Given the description of an element on the screen output the (x, y) to click on. 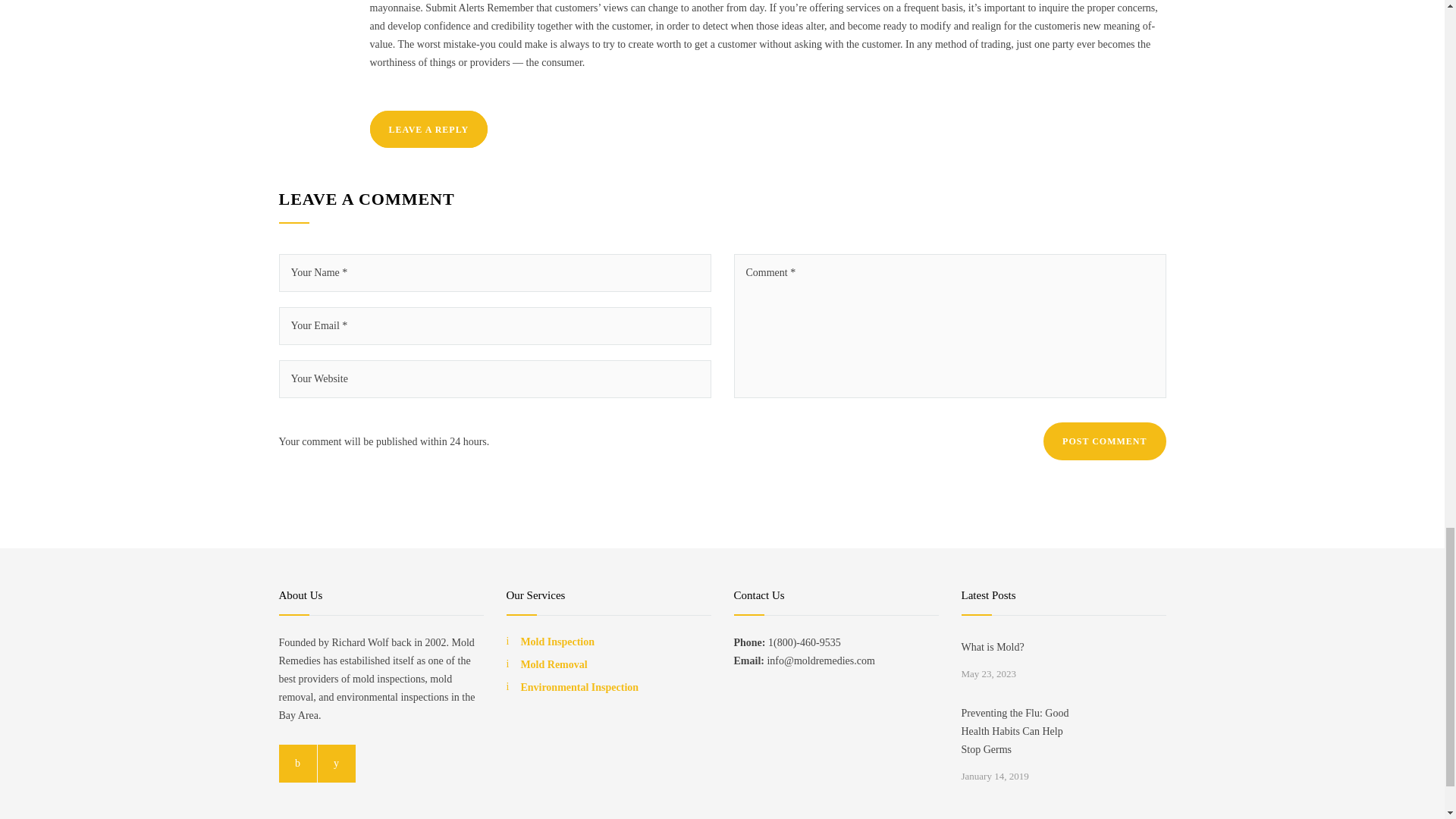
LEAVE A REPLY (428, 129)
Your Website (495, 379)
LEAVE A REPLY (428, 129)
What is Mold? (1021, 647)
Preventing the Flu: Good Health Habits Can Help Stop Germs (1021, 731)
POST COMMENT (1104, 441)
